Given the description of an element on the screen output the (x, y) to click on. 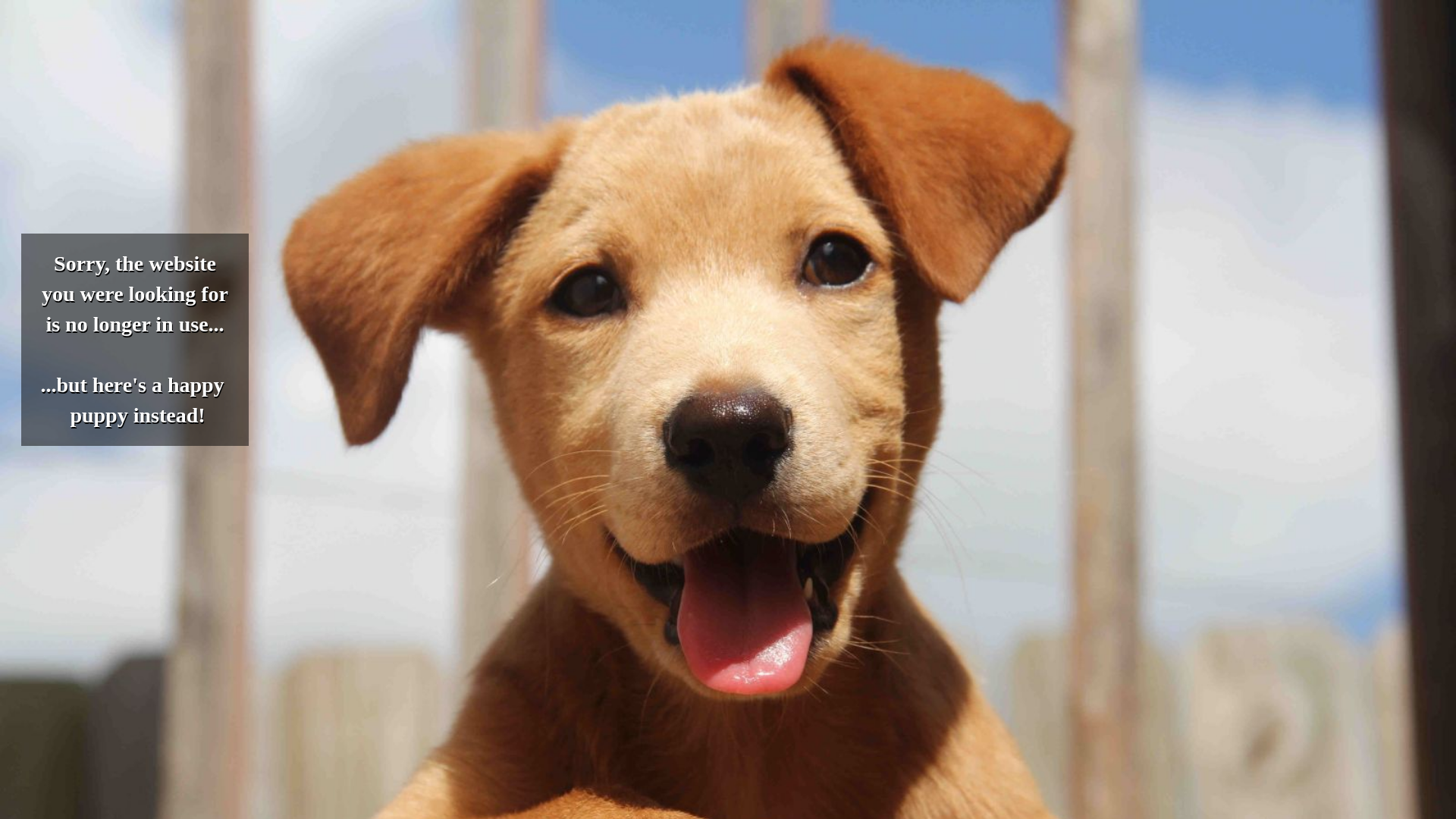
Advertisement Element type: hover (461, 112)
